Given the description of an element on the screen output the (x, y) to click on. 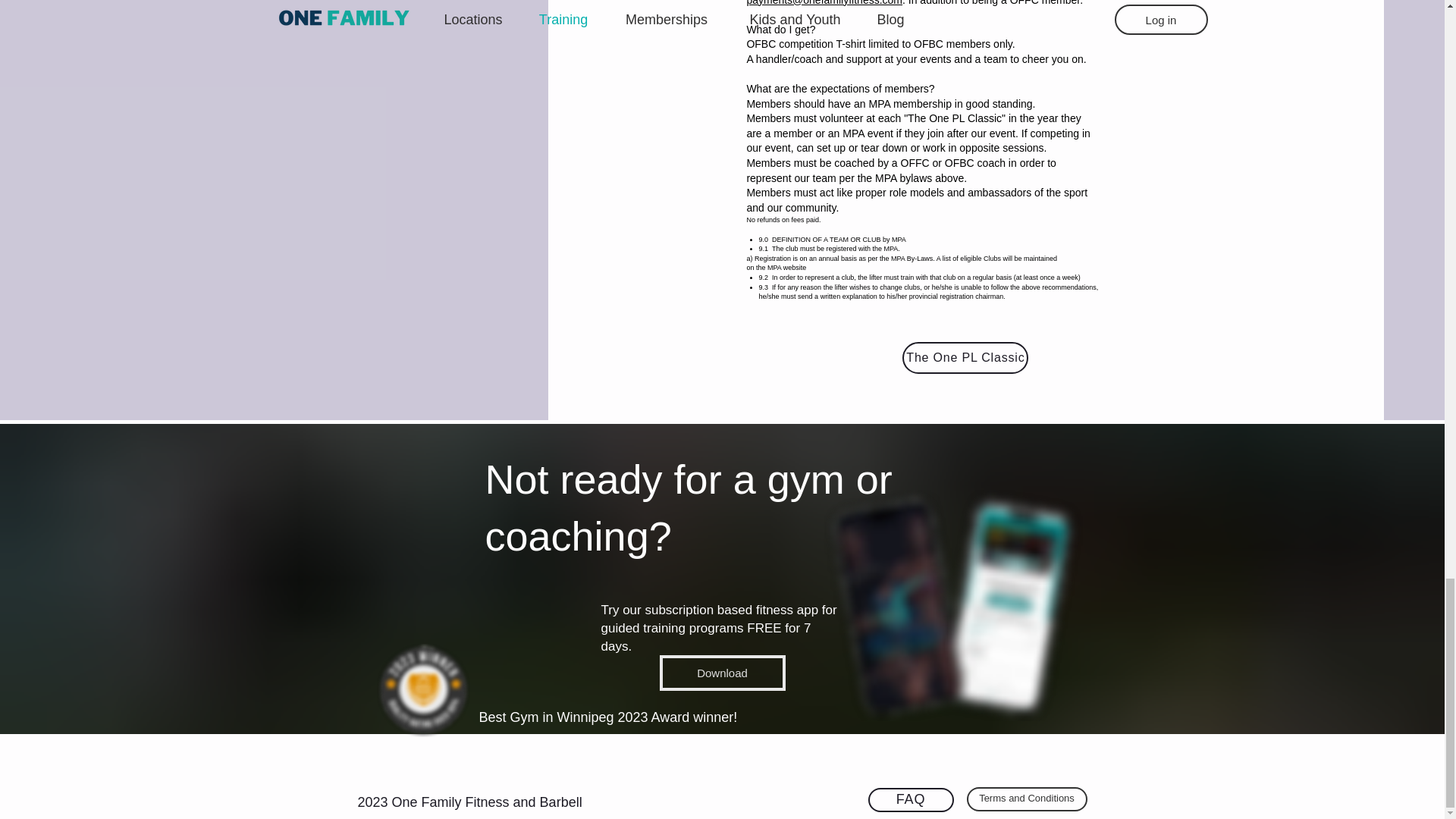
The One PL Classic (964, 357)
Terms and Conditions (1026, 799)
FAQ (910, 799)
Download (722, 673)
